Given the description of an element on the screen output the (x, y) to click on. 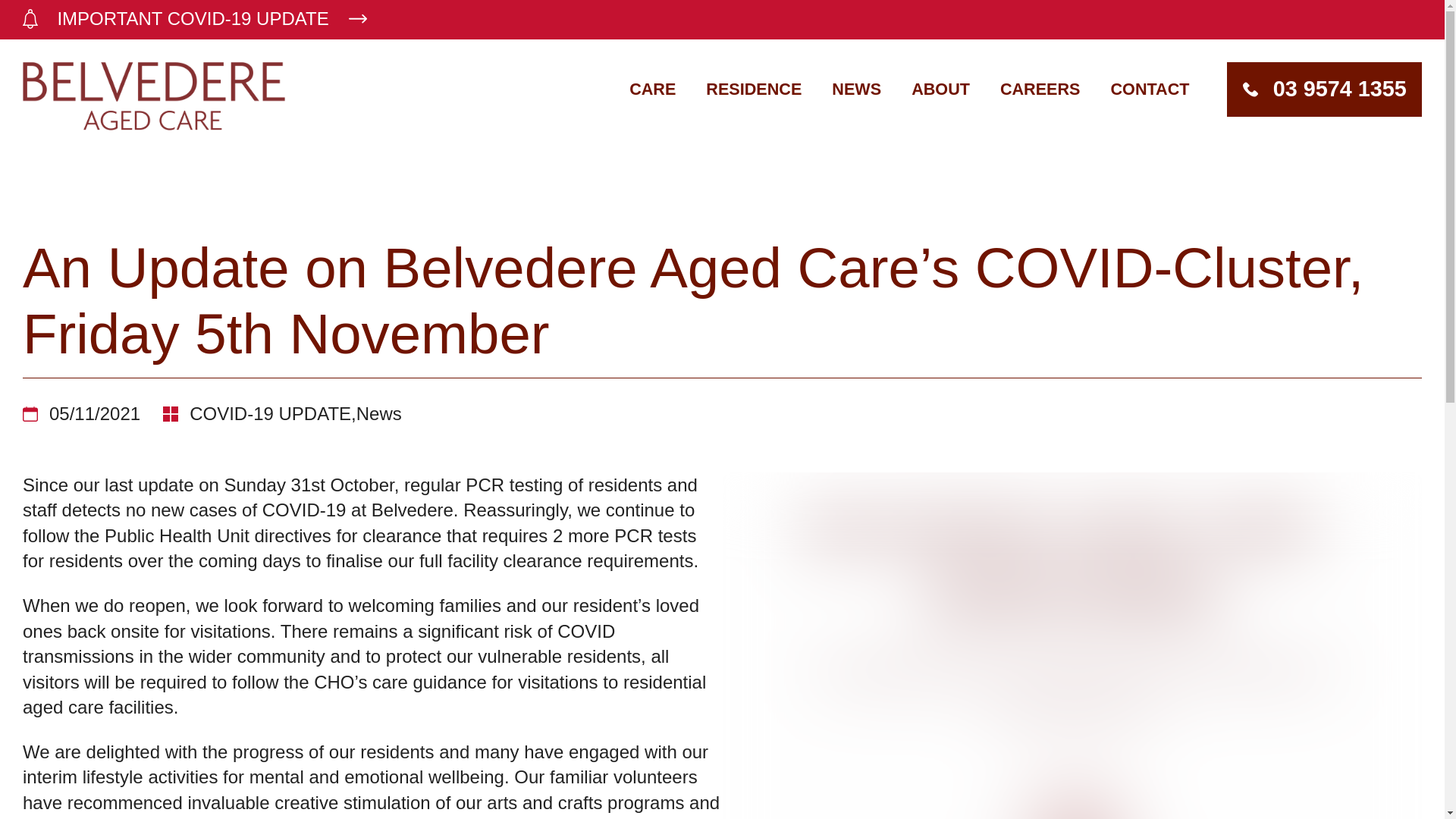
News (378, 413)
CARE (651, 89)
RESIDENCE (754, 89)
COVID-19 UPDATE (269, 413)
03 9574 1355 (1324, 89)
IMPORTANT COVID-19 UPDATE (722, 19)
CONTACT (1149, 89)
ABOUT (940, 89)
NEWS (855, 89)
CAREERS (1040, 89)
